Given the description of an element on the screen output the (x, y) to click on. 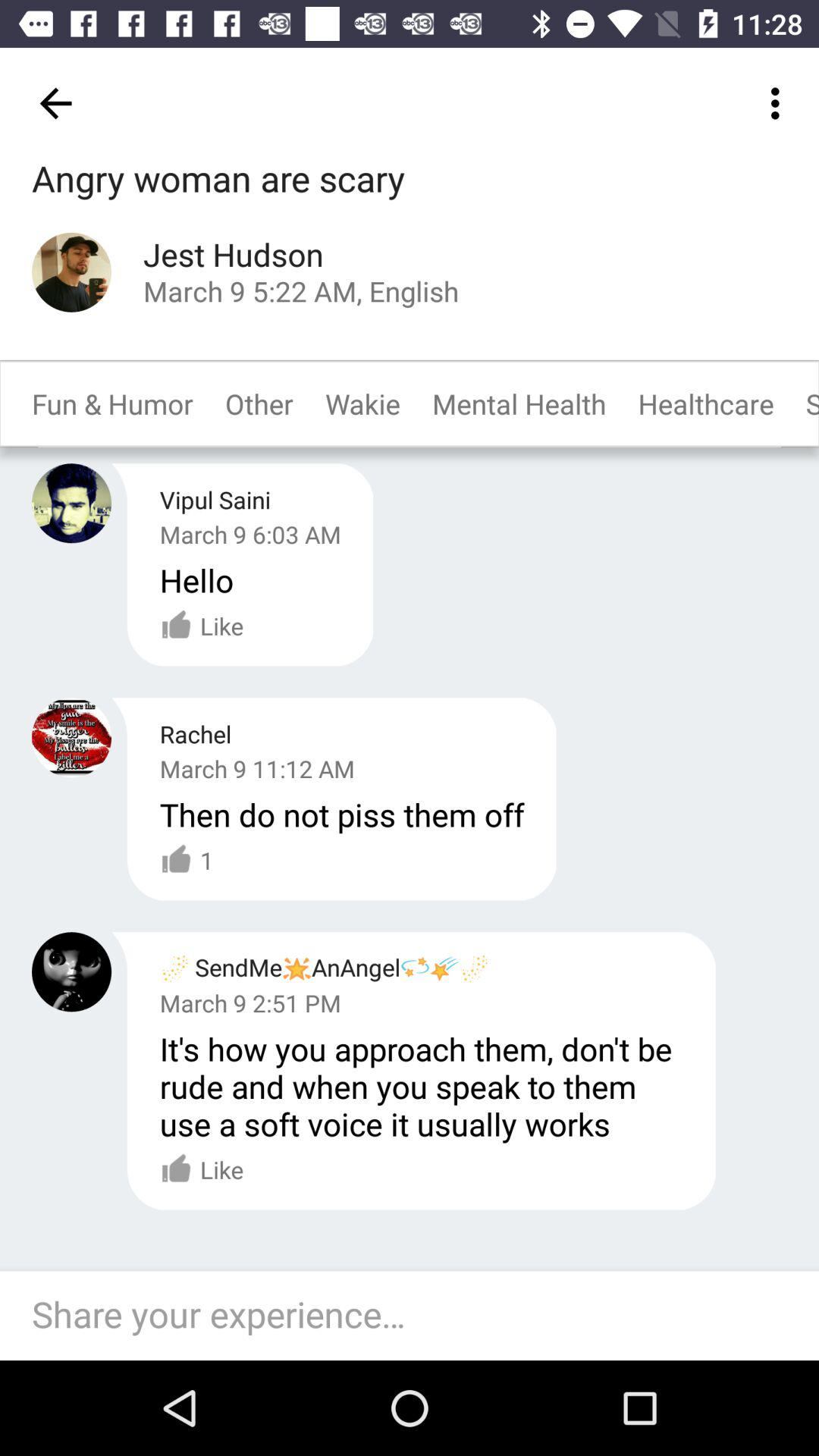
scroll until then do not (341, 814)
